Given the description of an element on the screen output the (x, y) to click on. 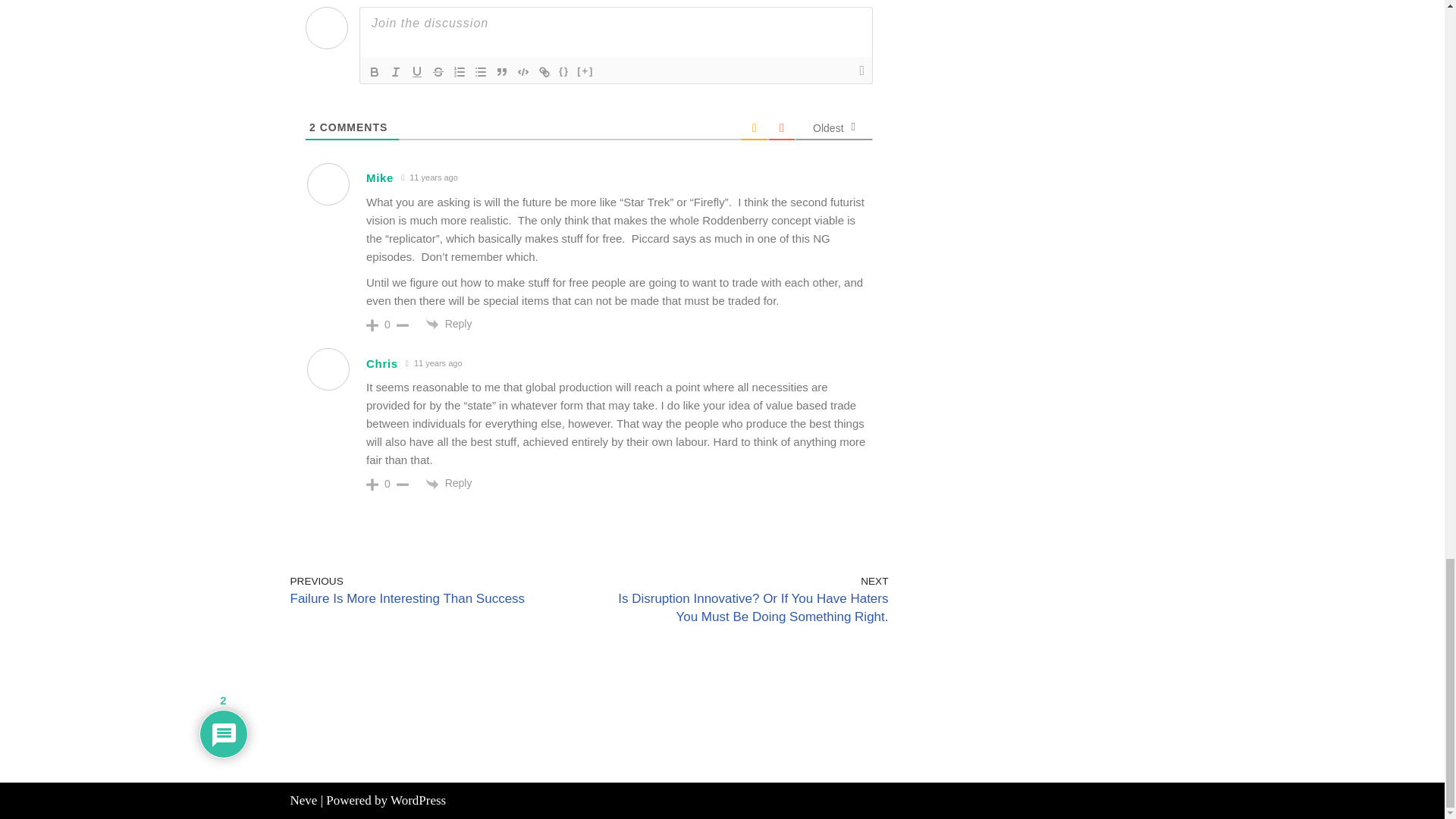
Unordered List (481, 72)
Ordered List (459, 72)
Strike (438, 72)
Code Block (523, 72)
ordered (459, 72)
Bold (374, 72)
Blockquote (502, 72)
Underline (417, 72)
Link (544, 72)
Italic (395, 72)
